Given the description of an element on the screen output the (x, y) to click on. 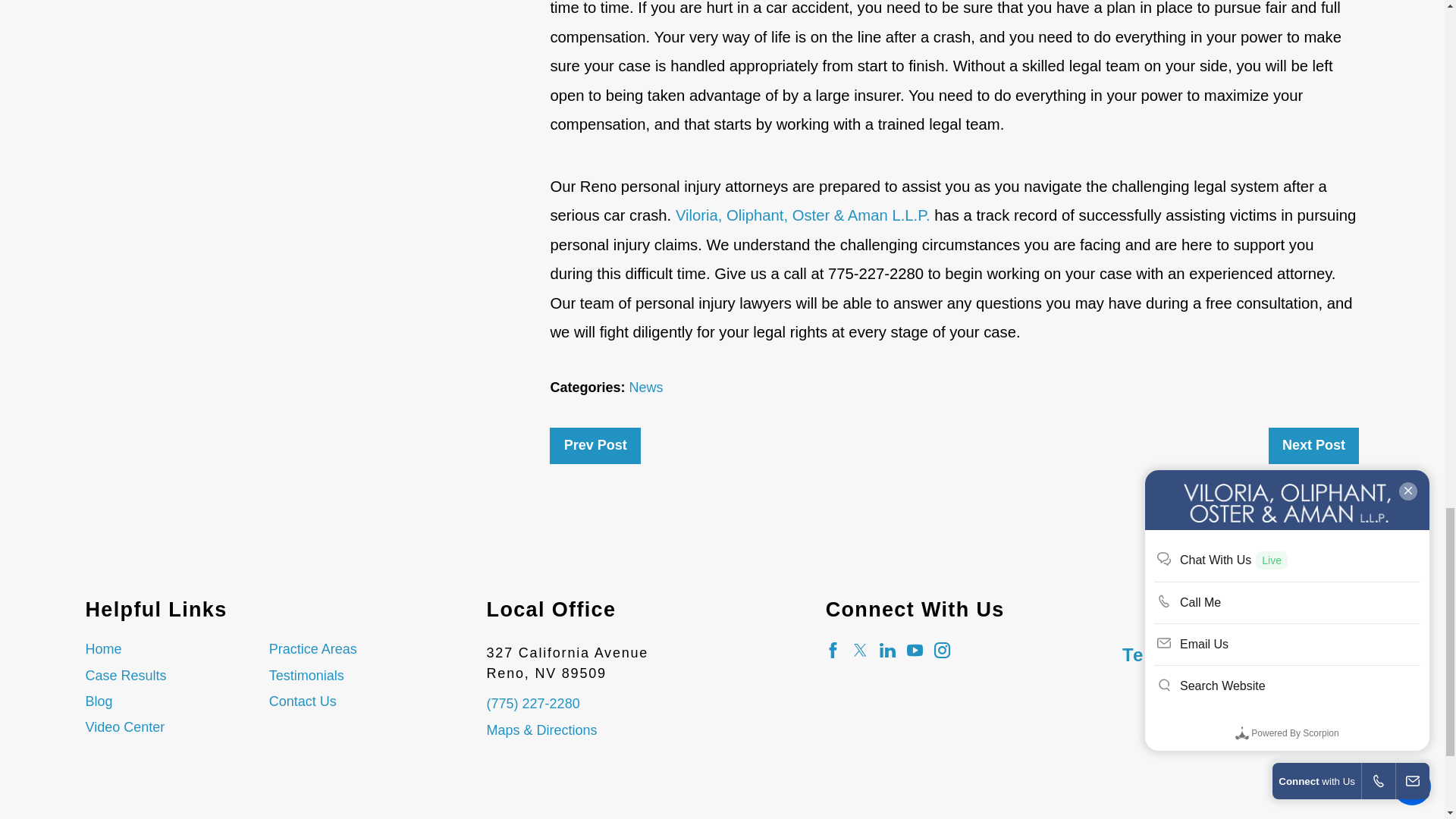
YouTube (915, 650)
Facebook (833, 650)
LinkedIn (887, 650)
Twitter (859, 650)
Instagram (942, 650)
